Given the description of an element on the screen output the (x, y) to click on. 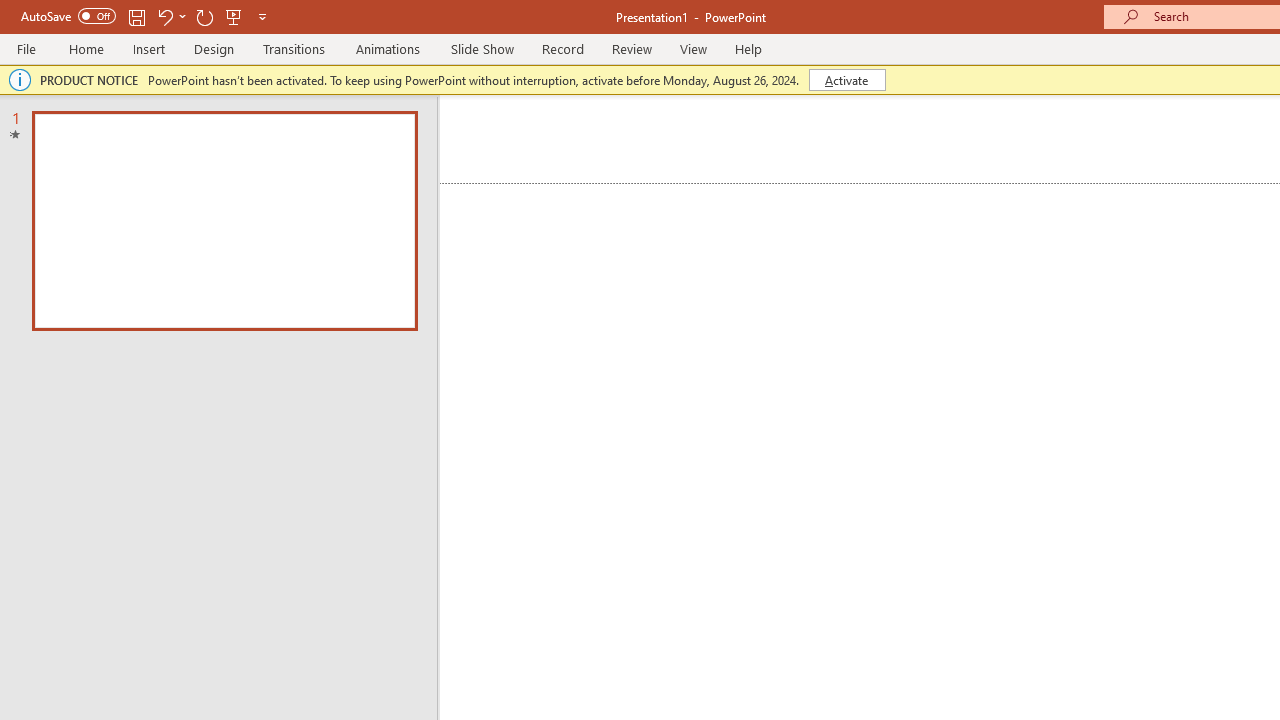
Home (86, 48)
AutoSave (68, 16)
Quick Access Toolbar (145, 16)
Customize Quick Access Toolbar (262, 15)
From Beginning (234, 15)
Design (214, 48)
Insert (149, 48)
